Given the description of an element on the screen output the (x, y) to click on. 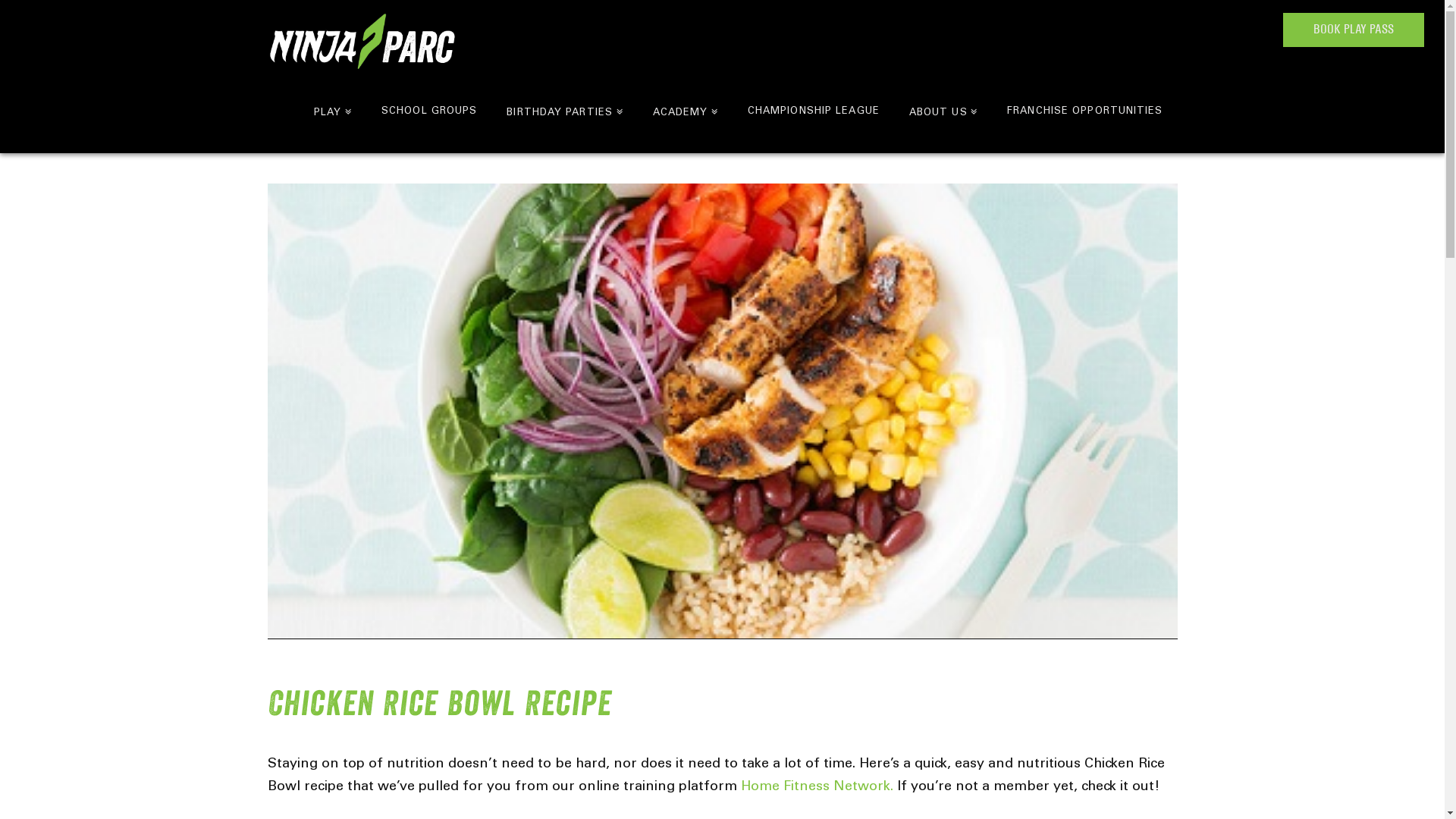
PLAY Element type: text (332, 110)
BIRTHDAY PARTIES Element type: text (564, 110)
SCHOOL GROUPS Element type: text (428, 110)
BOOK PLAY PASS Element type: text (1353, 29)
CHAMPIONSHIP LEAGUE Element type: text (813, 110)
Home Fitness Network. Element type: text (818, 786)
FRANCHISE OPPORTUNITIES Element type: text (1083, 110)
ABOUT US Element type: text (942, 110)
ACADEMY Element type: text (684, 110)
